Given the description of an element on the screen output the (x, y) to click on. 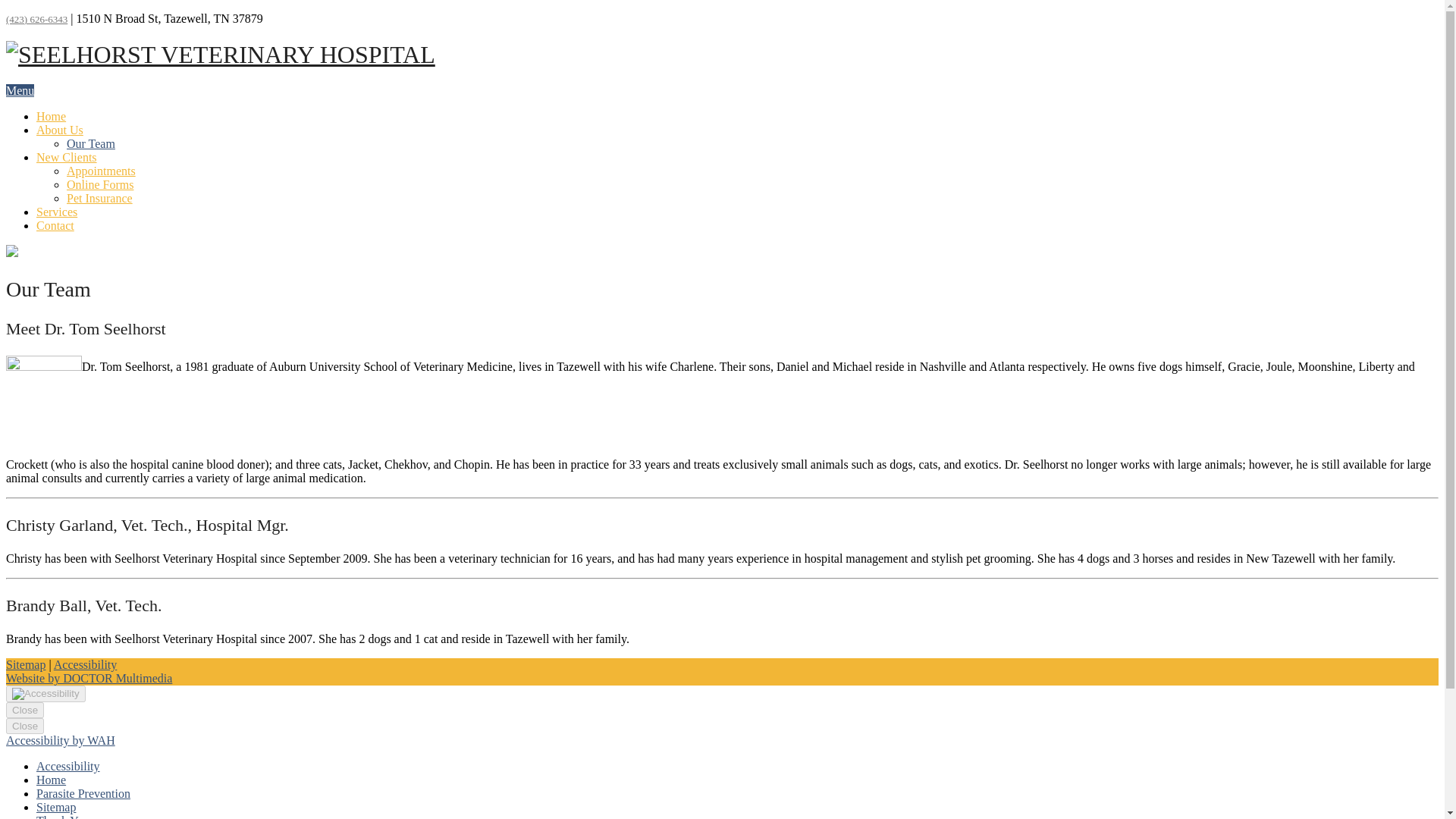
Our Team (90, 143)
Sitemap (25, 664)
Website by DOCTOR Multimedia (88, 677)
Accessibility Helper sidebar (45, 693)
Pet Insurance (99, 197)
New Clients (66, 156)
Online Forms (99, 184)
Close sidebar (24, 725)
Accessibility by WP Accessibility Helper Team (60, 739)
Contact (55, 225)
Sitemap (55, 807)
Home (50, 115)
Accessibility (68, 766)
Accessibility (85, 664)
Close (24, 709)
